Given the description of an element on the screen output the (x, y) to click on. 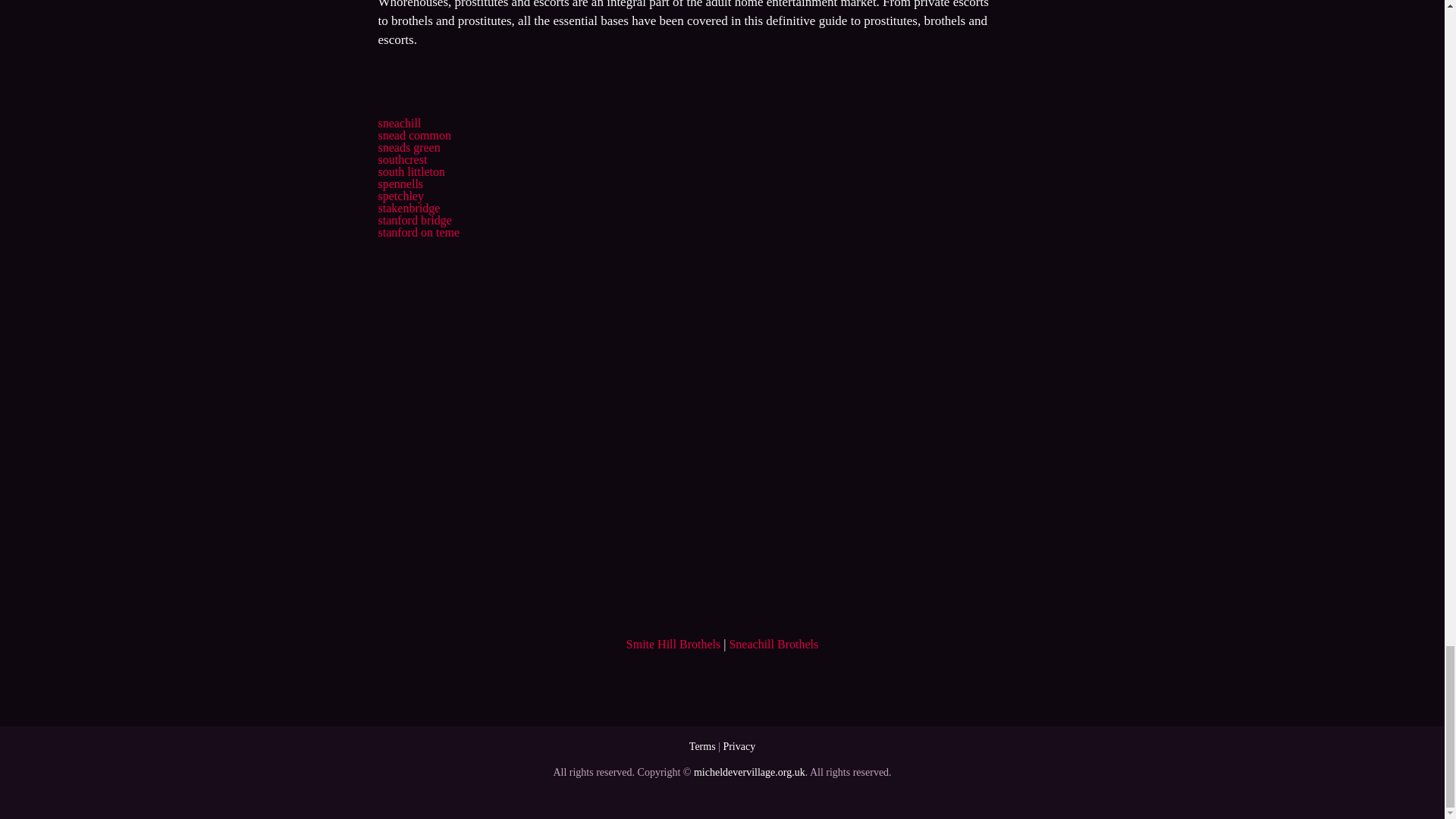
stakenbridge (408, 207)
Privacy (738, 746)
south littleton (410, 171)
southcrest (401, 159)
sneachill (398, 123)
stanford bridge (414, 219)
spetchley (400, 195)
sneads green (408, 146)
Smite Hill Brothels (673, 644)
spennells (400, 183)
